Given the description of an element on the screen output the (x, y) to click on. 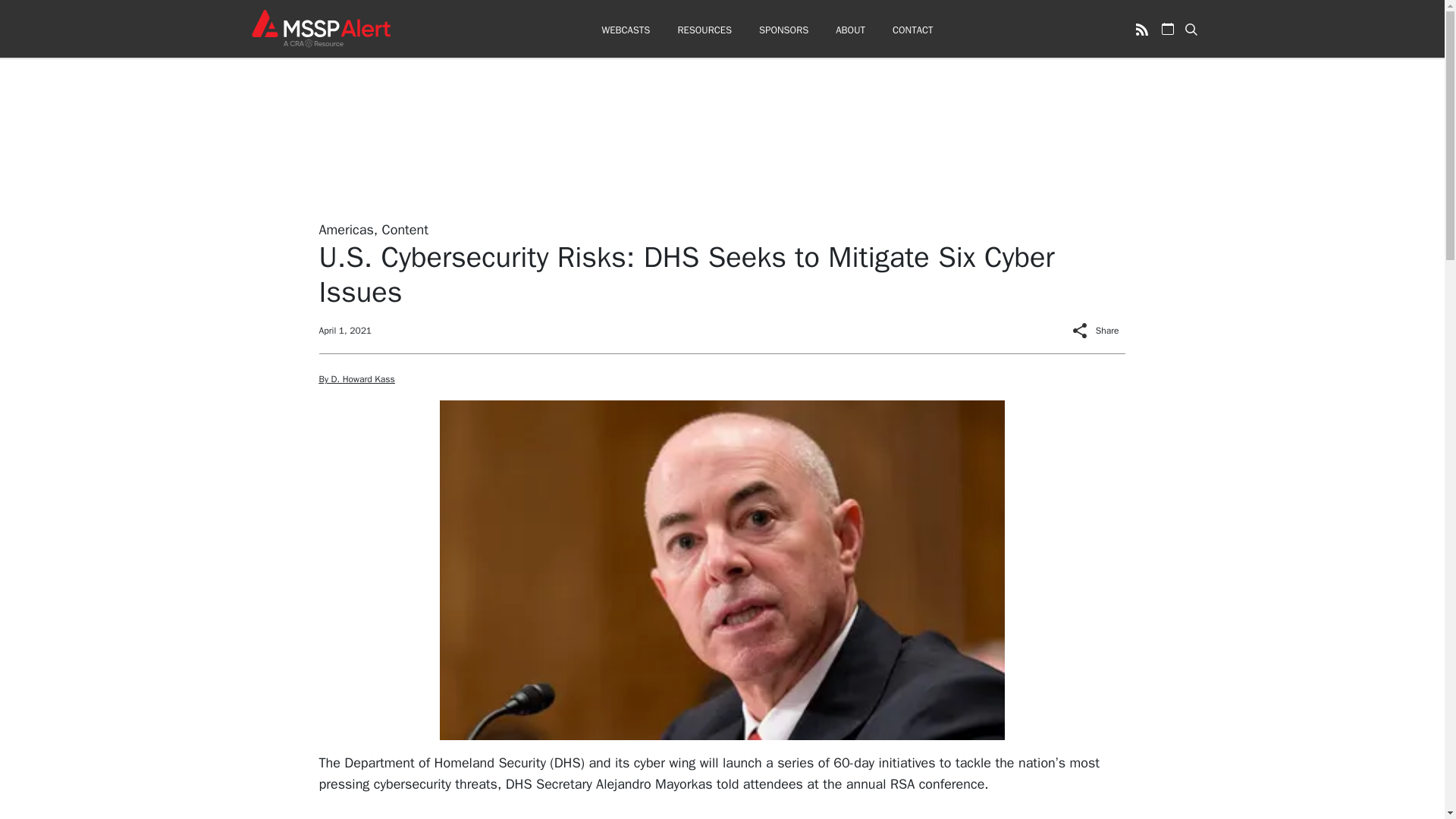
Content (404, 229)
ABOUT (849, 30)
RESOURCES (704, 30)
SPONSORS (783, 30)
MSSP Alert (319, 27)
CONTACT (912, 30)
View Cybersecurity Conference Calendar (1167, 28)
By D. Howard Kass (356, 378)
Americas (345, 229)
WEBCASTS (625, 30)
